Given the description of an element on the screen output the (x, y) to click on. 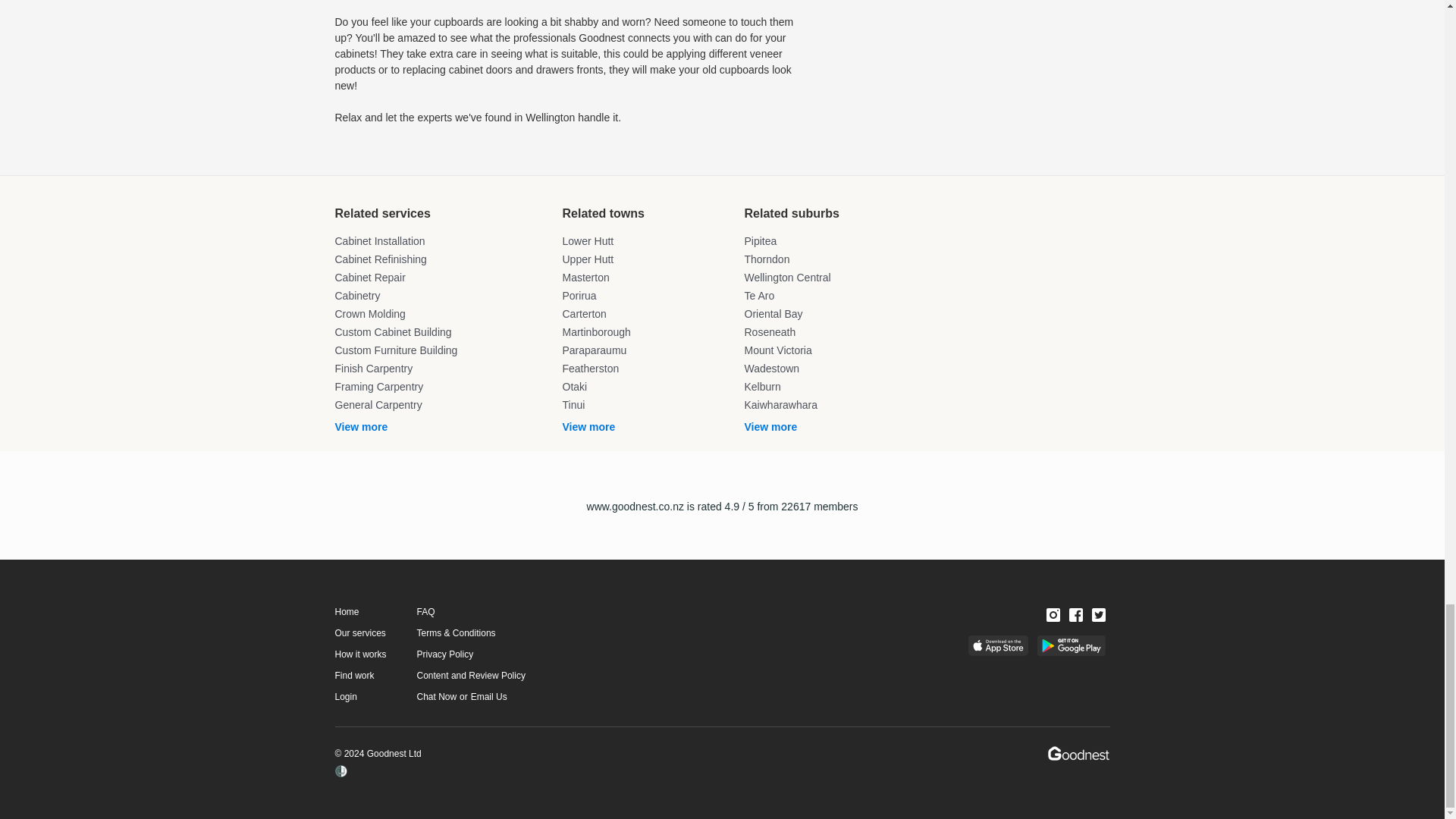
Cabinet Installation (440, 241)
Crown Molding (440, 314)
Martinborough (645, 332)
Custom Cabinet Building (440, 332)
View more (440, 426)
Featherston (645, 368)
Carterton (645, 314)
Paraparaumu (645, 350)
Masterton (645, 277)
Framing Carpentry (440, 386)
Upper Hutt (645, 259)
Custom Furniture Building (440, 350)
Cabinet Refinishing (440, 259)
Lower Hutt (645, 241)
General Carpentry (440, 404)
